Given the description of an element on the screen output the (x, y) to click on. 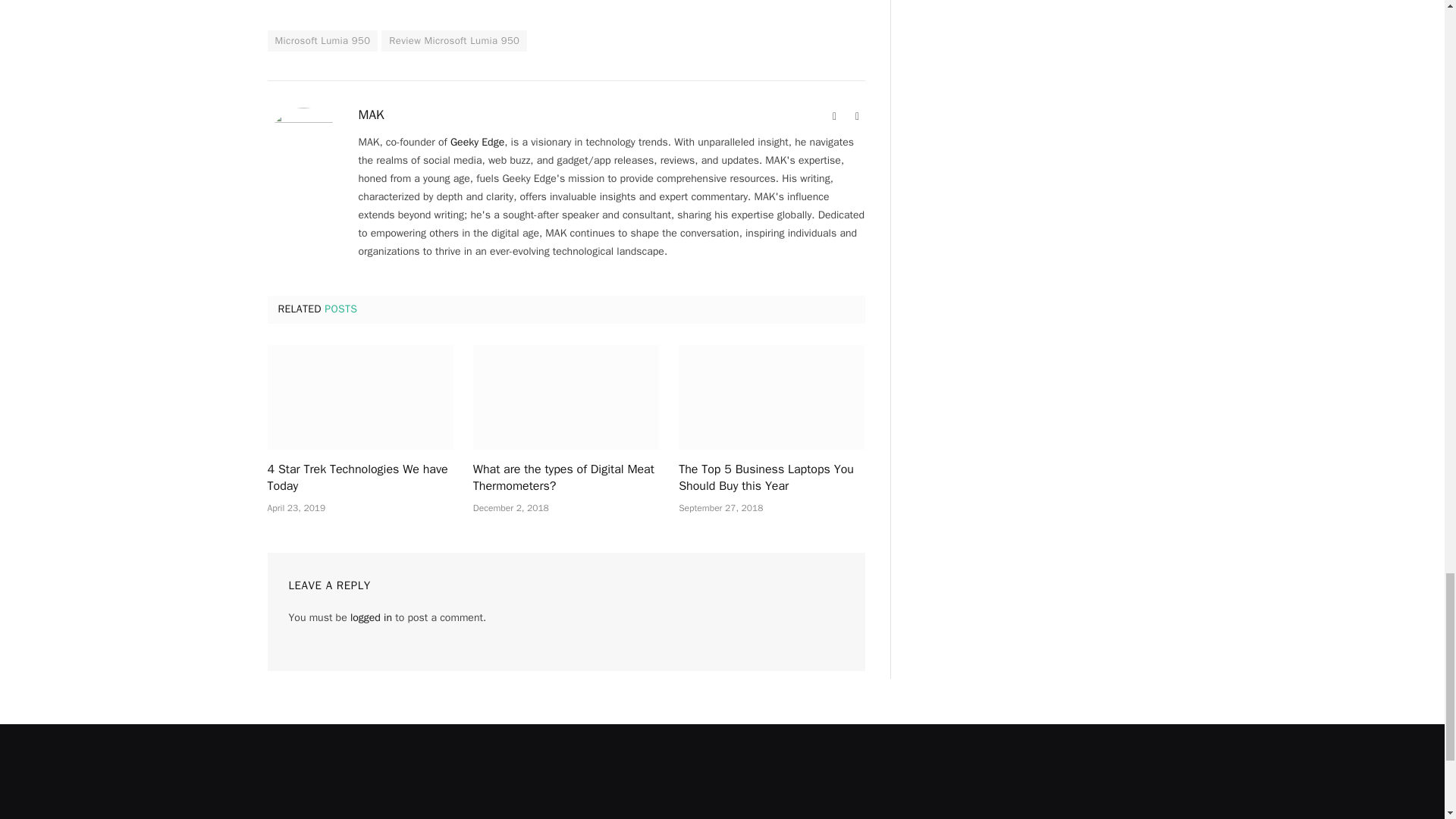
Website (834, 116)
Microsoft Lumia 950 (321, 40)
Posts by MAK (371, 114)
Review Microsoft Lumia 950 (454, 40)
What are the types of Digital Meat Thermometers? (566, 396)
Geeky Edge (476, 141)
The Top 5 Business Laptops You Should Buy this Year (771, 396)
MAK (371, 114)
4 Star Trek Technologies We have Today (359, 478)
Website (834, 116)
